Given the description of an element on the screen output the (x, y) to click on. 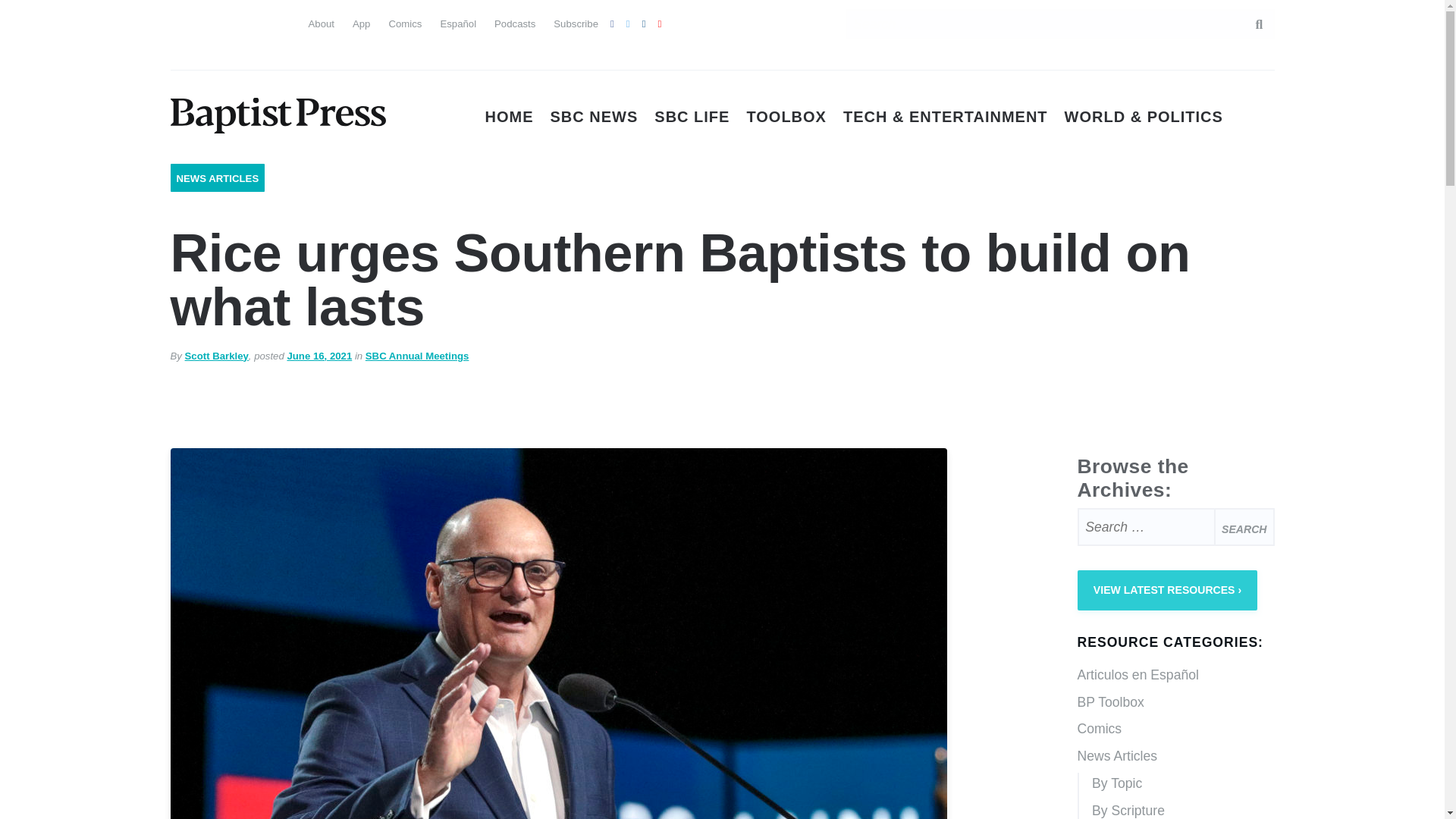
TOOLBOX (786, 116)
French (263, 21)
English (182, 21)
SBC NEWS (594, 116)
Korean (237, 51)
Spanish (209, 21)
NEWS ARTICLES (217, 178)
Search (1244, 526)
About (320, 23)
Scott Barkley (216, 355)
